Given the description of an element on the screen output the (x, y) to click on. 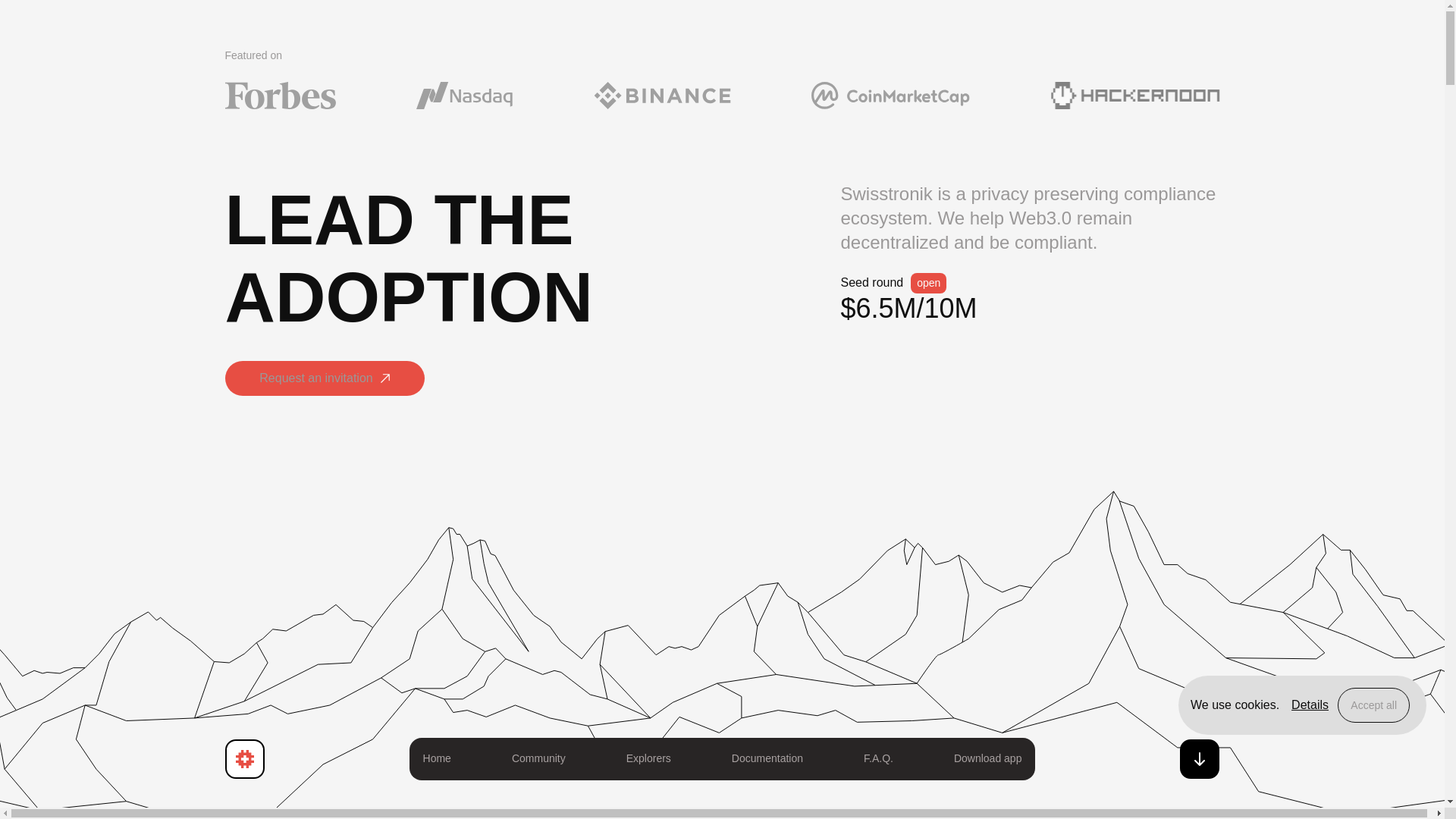
Request an invitation (323, 378)
